Given the description of an element on the screen output the (x, y) to click on. 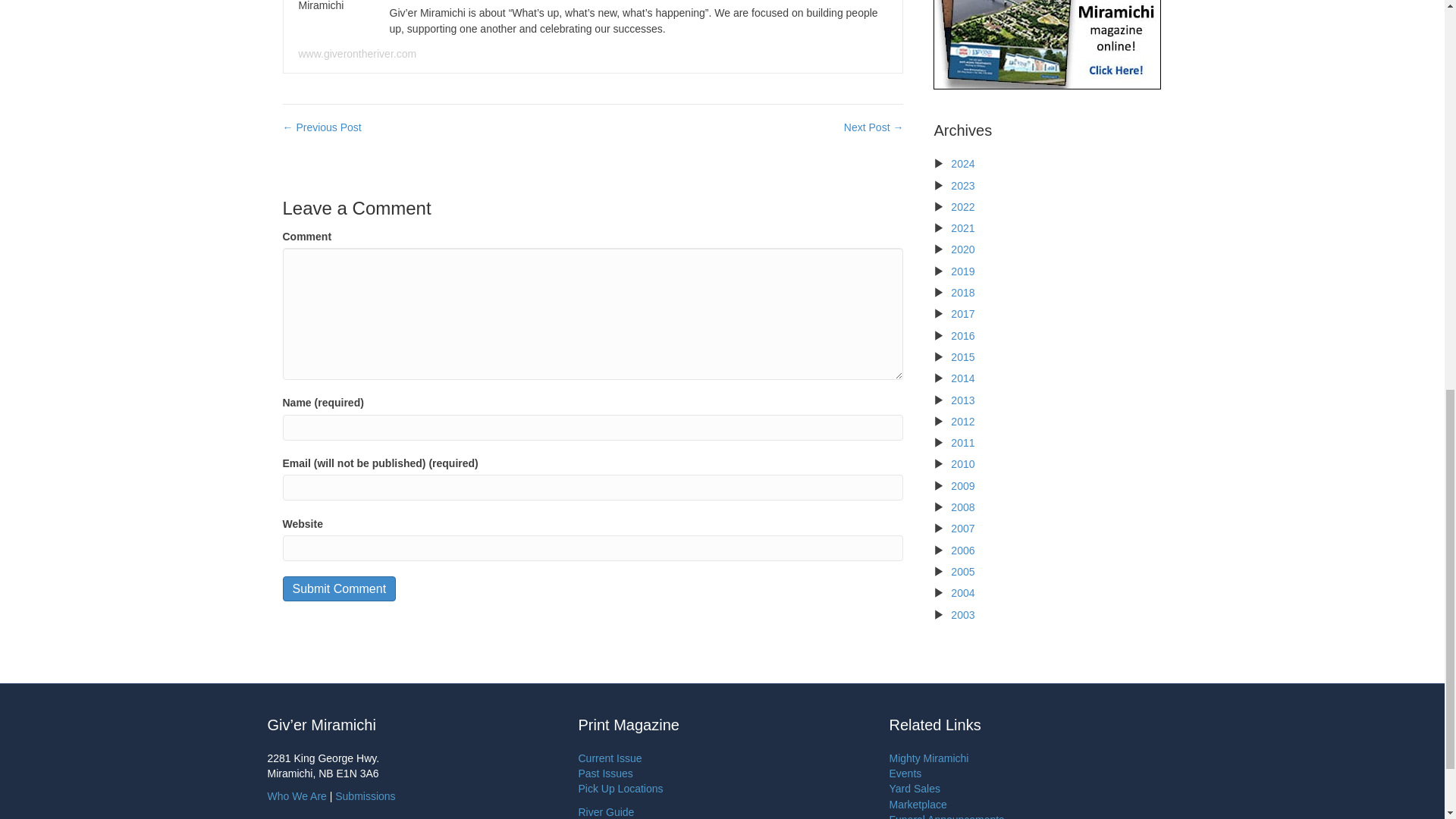
Submit Comment (339, 588)
